Given the description of an element on the screen output the (x, y) to click on. 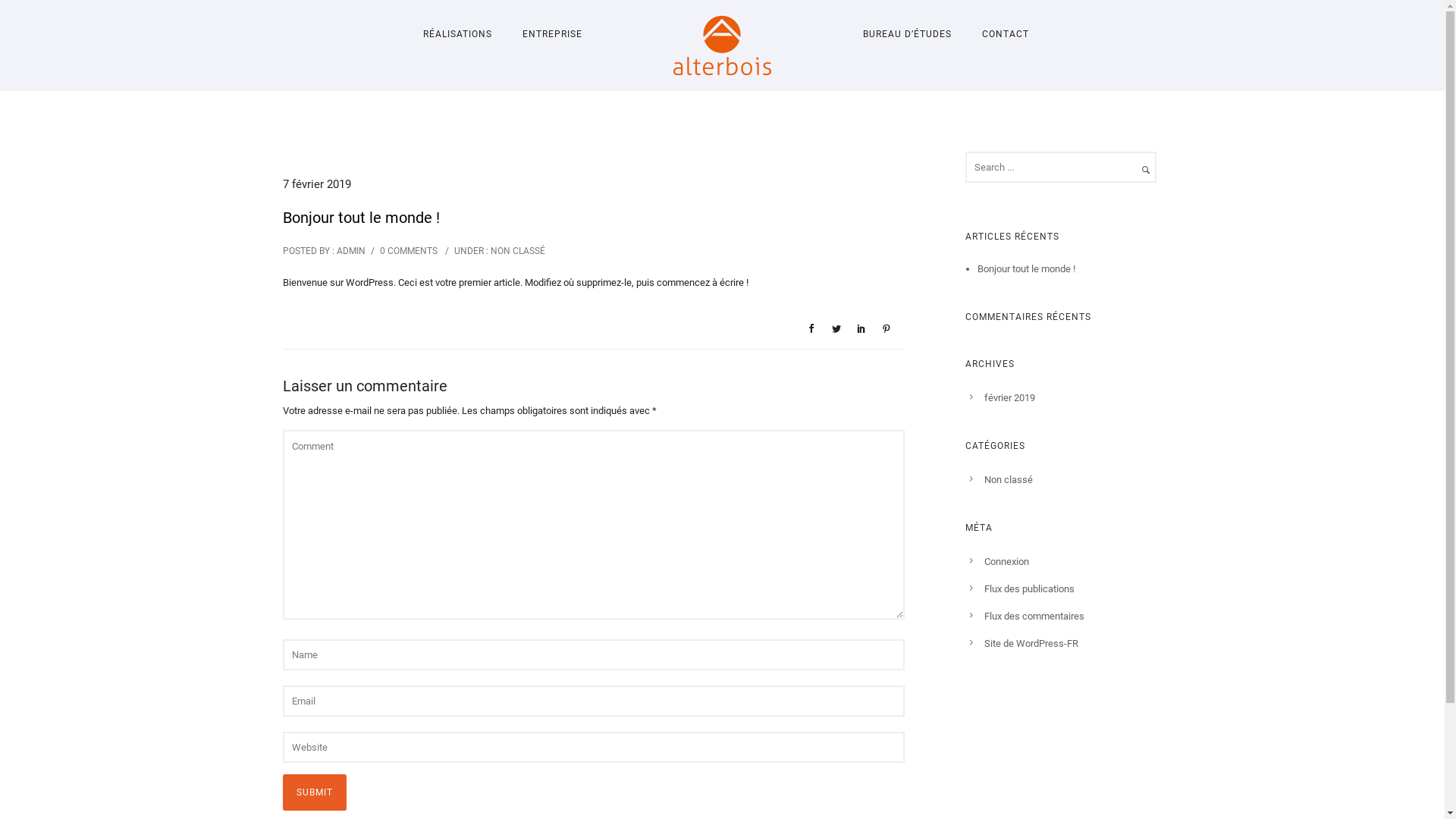
ENTREPRISE Element type: text (551, 33)
Site de WordPress-FR Element type: text (1031, 643)
Flux des publications Element type: text (1029, 588)
Submit Element type: text (313, 792)
Connexion Element type: text (1006, 561)
0 COMMENTS Element type: text (407, 250)
CONTACT Element type: text (1004, 33)
Flux des commentaires Element type: text (1034, 615)
Bonjour tout le monde ! Element type: text (1026, 268)
